Given the description of an element on the screen output the (x, y) to click on. 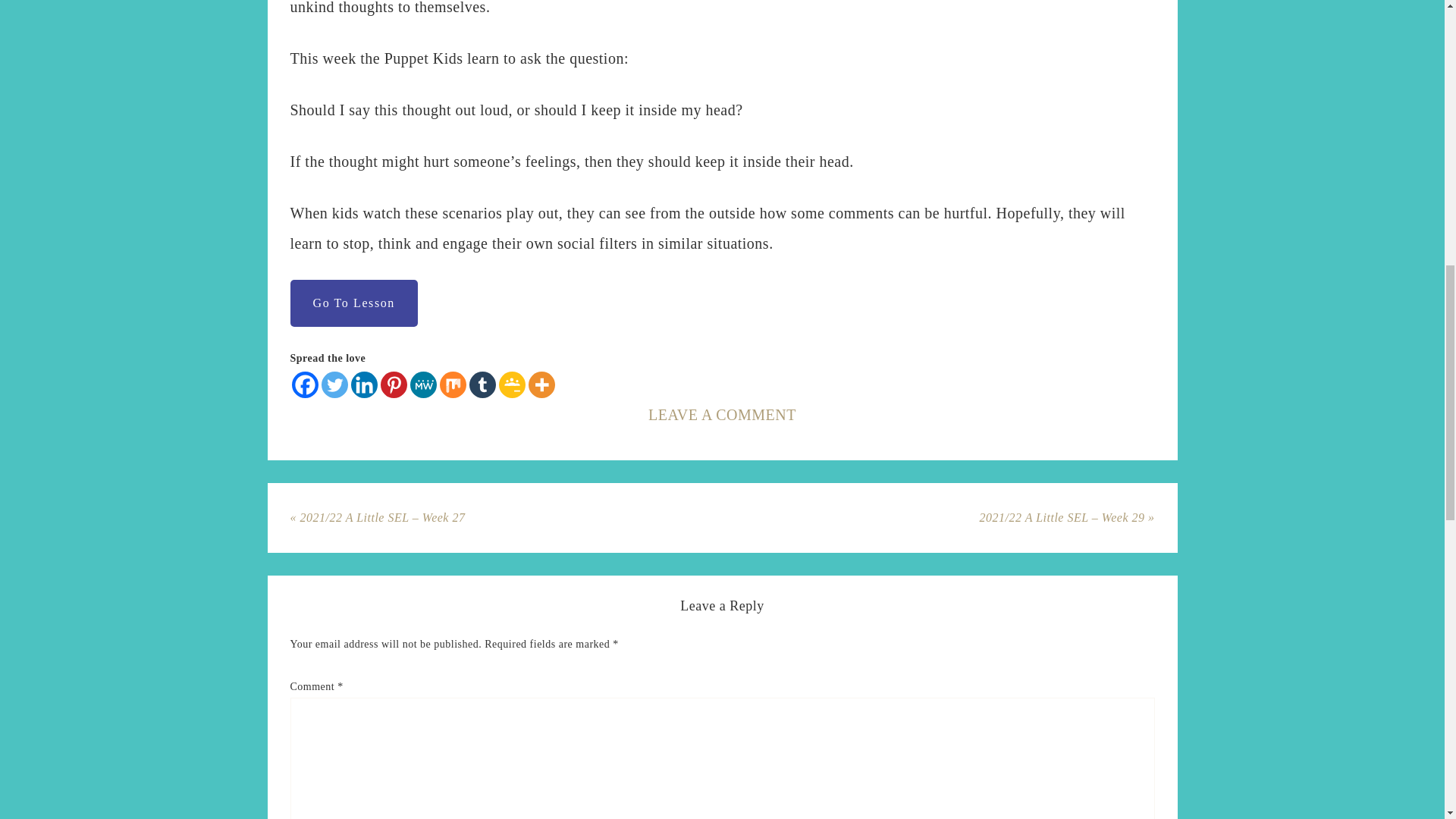
More (540, 384)
Facebook (304, 384)
Pinterest (393, 384)
MeWe (422, 384)
Go To Lesson (352, 303)
Linkedin (363, 384)
Google Classroom (512, 384)
Mix (452, 384)
Tumblr (481, 384)
LEAVE A COMMENT (721, 414)
